Given the description of an element on the screen output the (x, y) to click on. 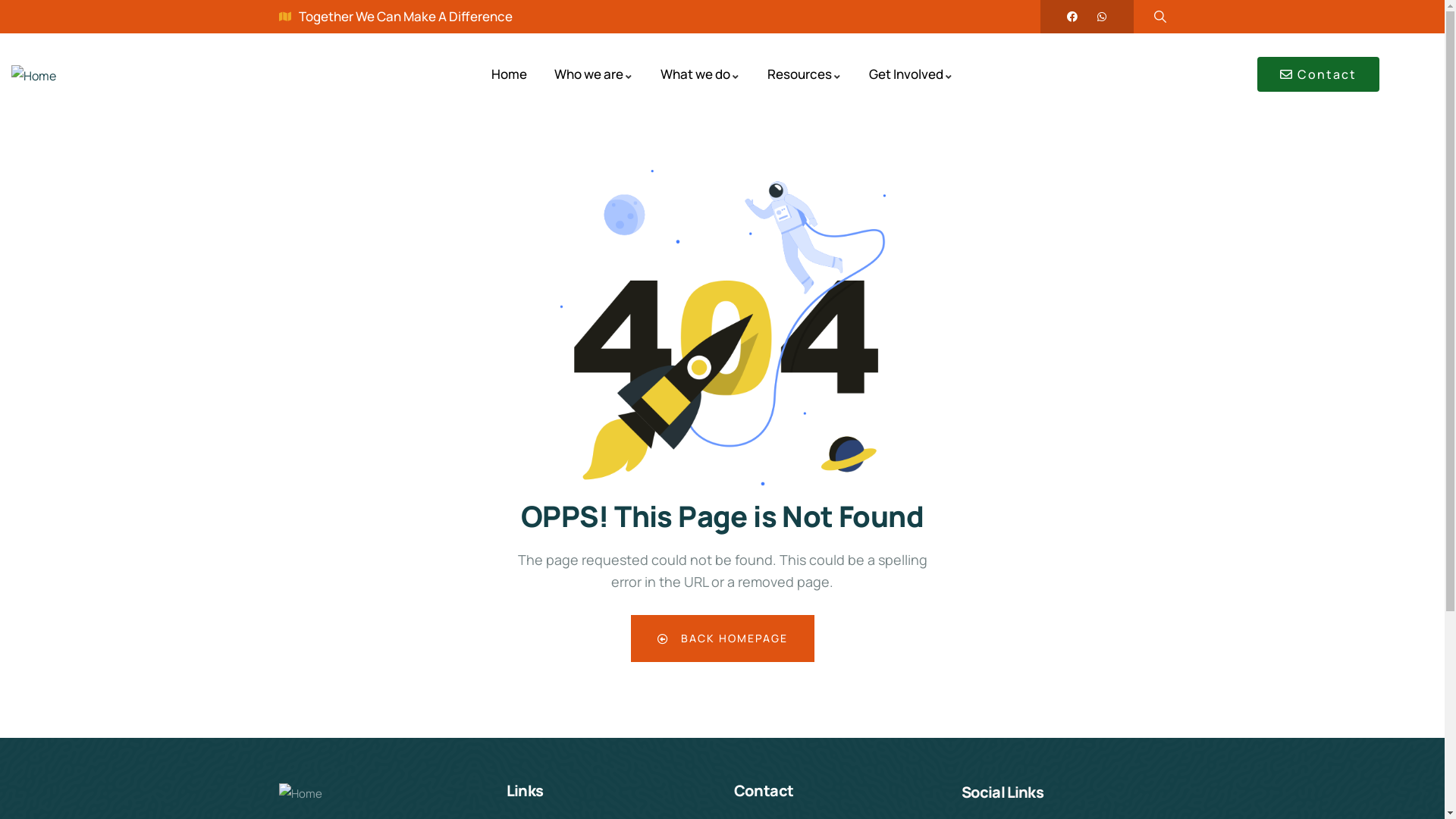
Home Element type: hover (33, 76)
Who we are Element type: text (593, 74)
BACK HOMEPAGE Element type: text (722, 638)
What we do Element type: text (700, 74)
Get Involved Element type: text (911, 74)
Contact Element type: text (1318, 73)
Resources Element type: text (804, 74)
Home Element type: hover (300, 794)
Home Element type: text (509, 74)
